Given the description of an element on the screen output the (x, y) to click on. 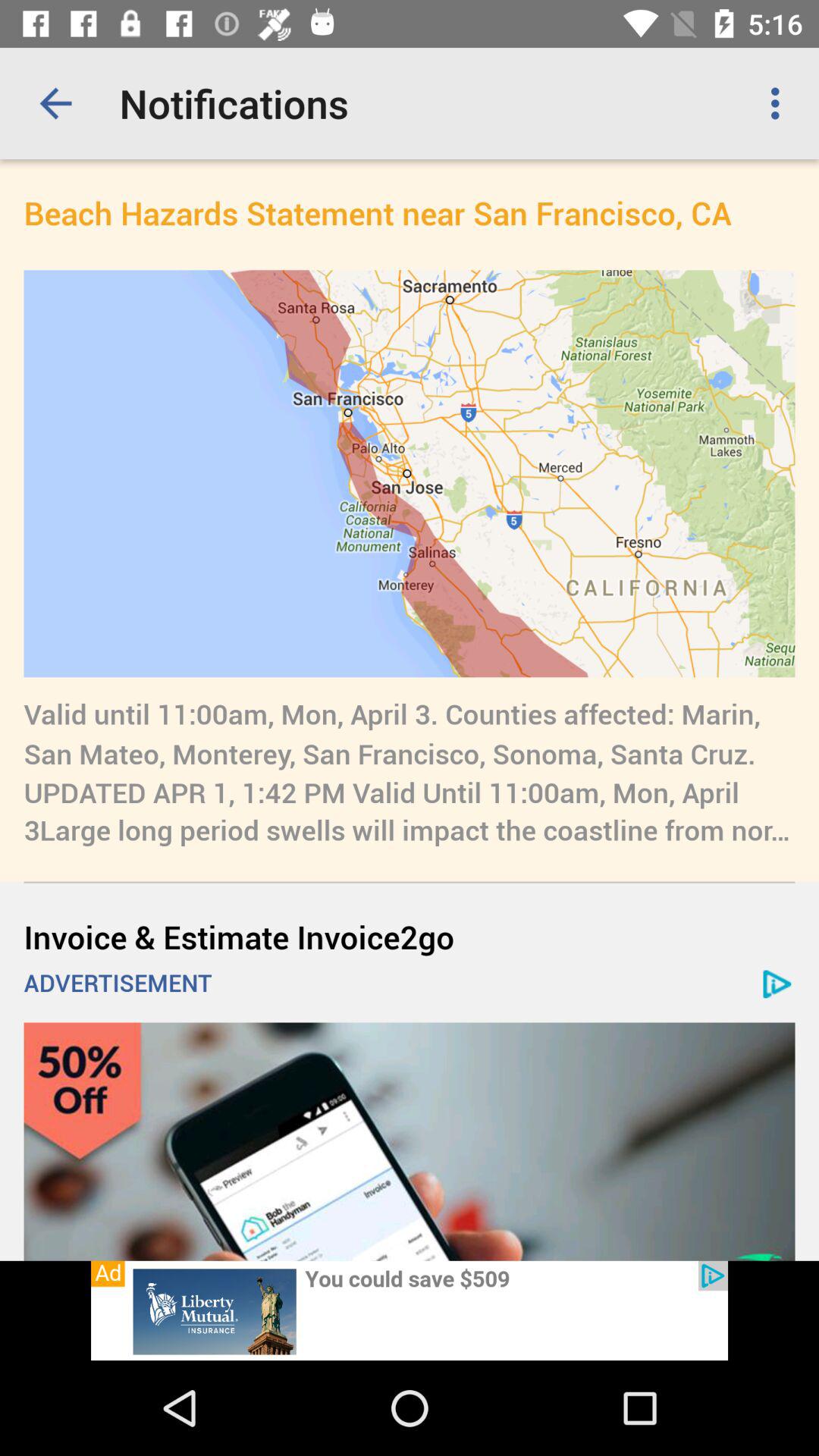
open advertisement (409, 1310)
